Given the description of an element on the screen output the (x, y) to click on. 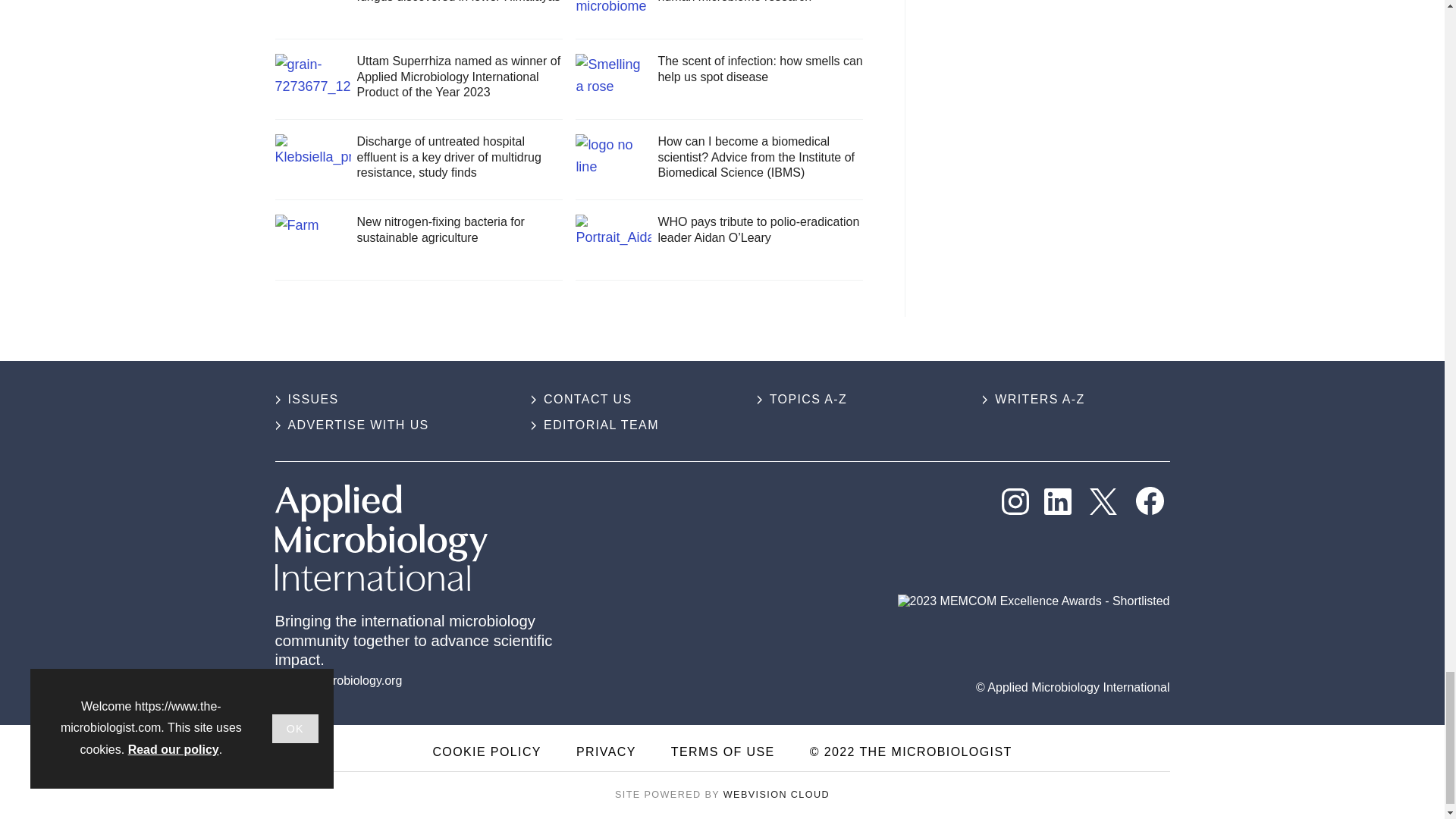
Connect with us on Twitter (1102, 501)
Connect with us on Facebook (1149, 500)
Connect with us on Instagram (1015, 501)
Connect with us on Linked in (1057, 501)
